Given the description of an element on the screen output the (x, y) to click on. 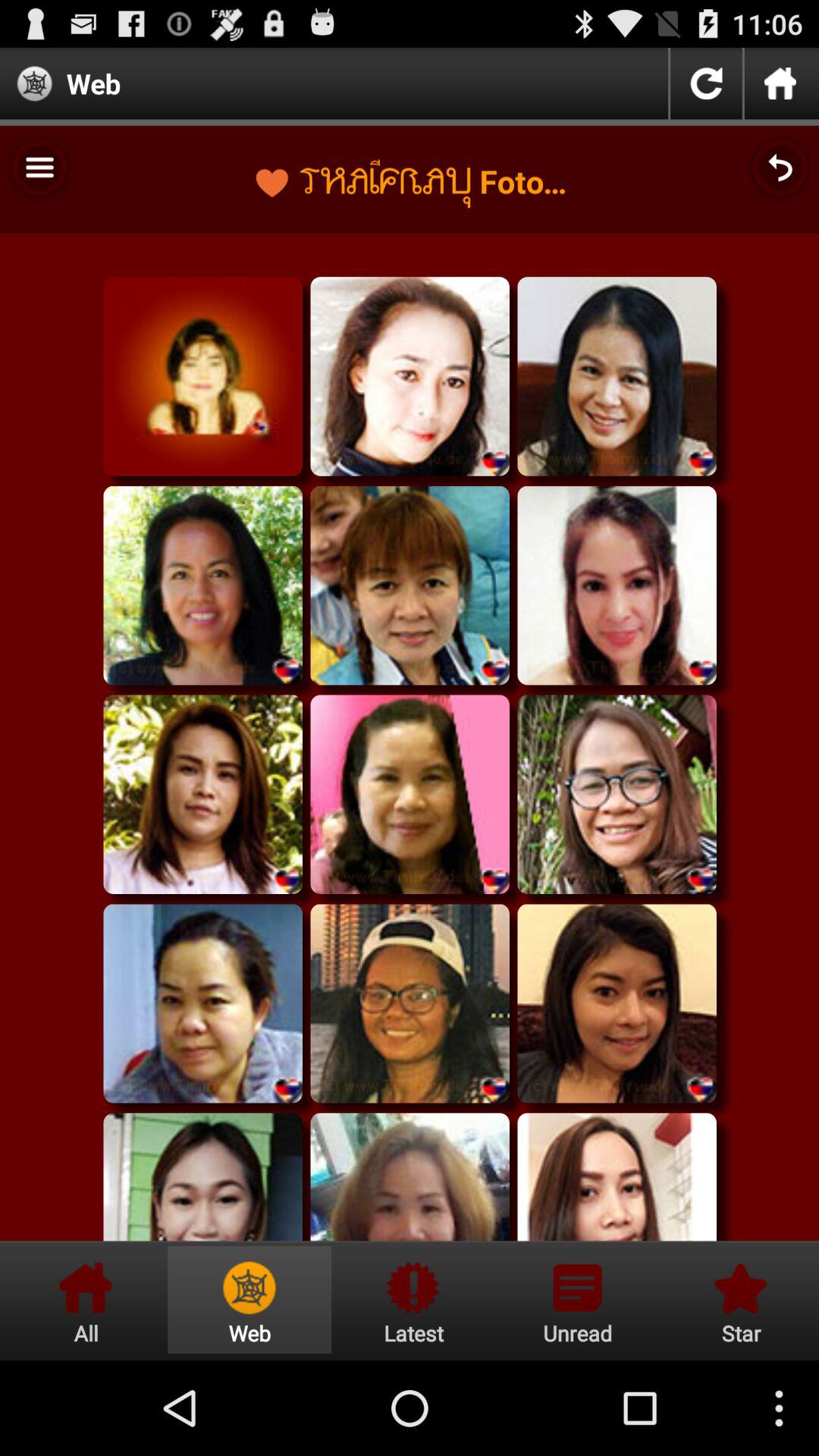
unread (577, 1299)
